Given the description of an element on the screen output the (x, y) to click on. 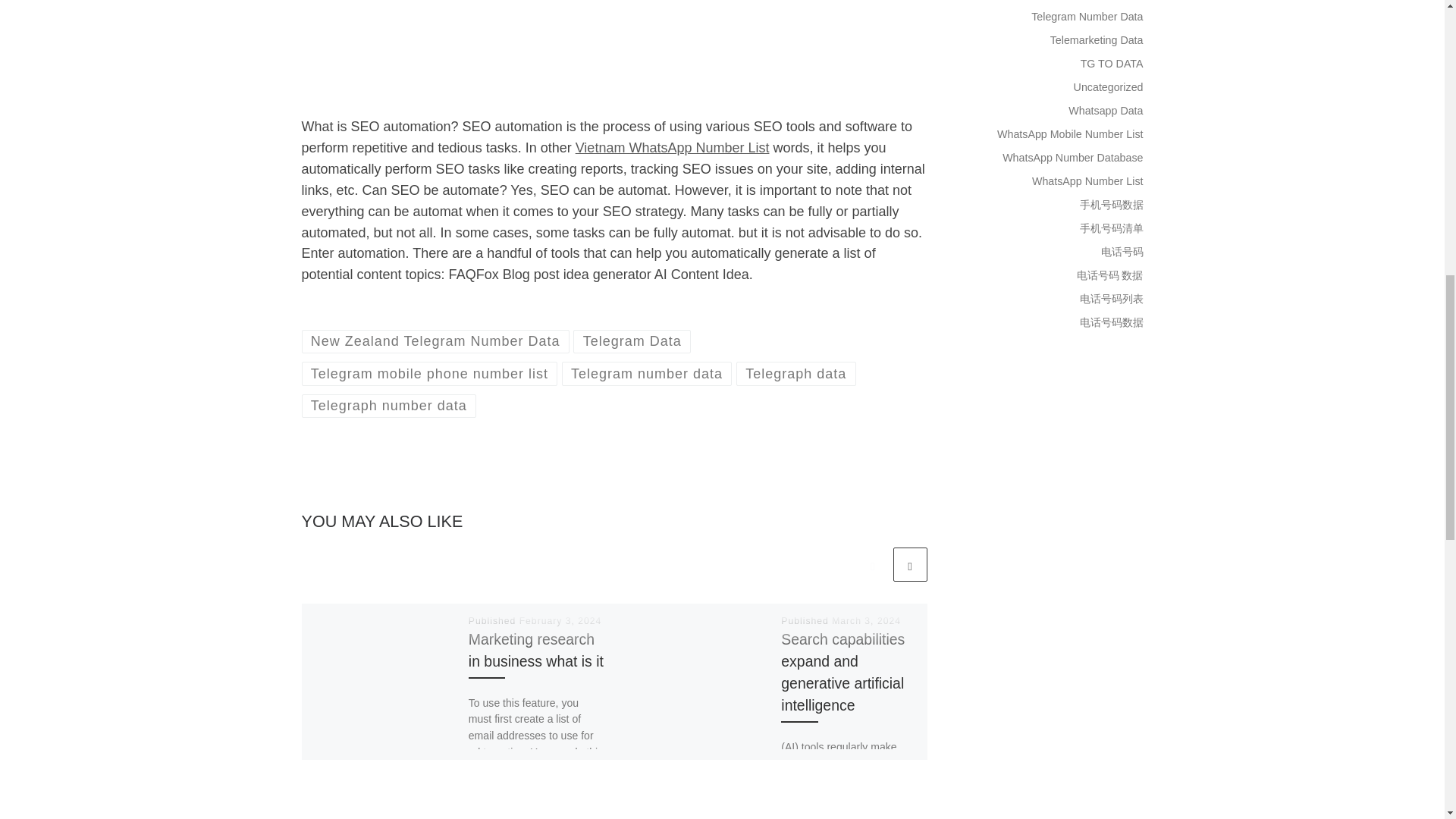
Telegram mobile phone number list (429, 372)
Telegraph number data (389, 405)
Next related articles (910, 564)
View all posts in Telegram mobile phone number list (429, 372)
View all posts in Telegraph number data (389, 405)
March 3, 2024 (866, 620)
View all posts in New Zealand Telegram Number Data (435, 341)
Vietnam WhatsApp Number List (672, 147)
View all posts in Telegram number data (647, 372)
Telegraph data (796, 372)
Marketing research in business what is it (536, 649)
View all posts in Telegraph data (796, 372)
New Zealand Telegram Number Data (435, 341)
Previous related articles (872, 564)
